Given the description of an element on the screen output the (x, y) to click on. 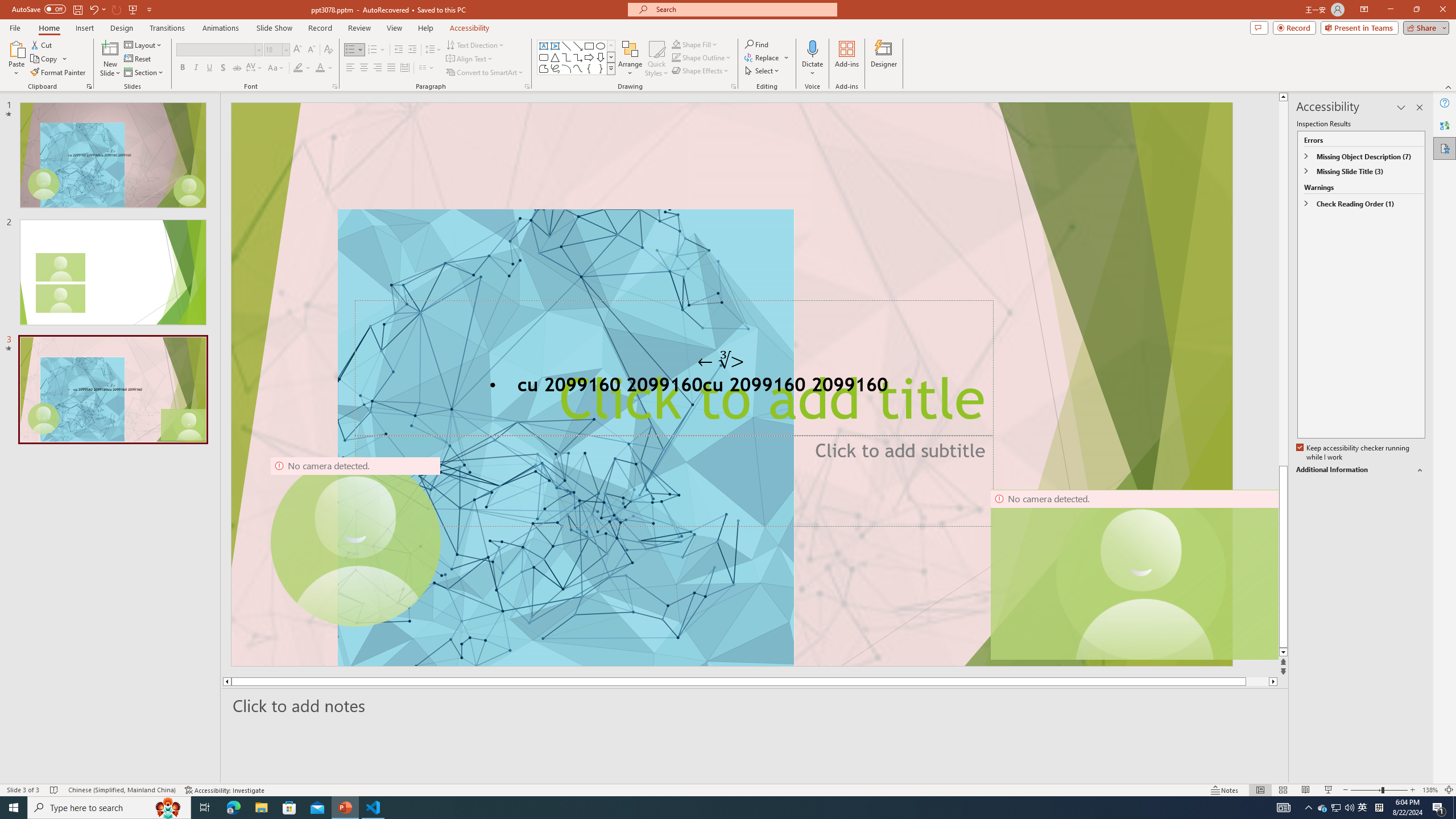
Keep accessibility checker running while I work (1353, 452)
TextBox 61 (730, 386)
